Given the description of an element on the screen output the (x, y) to click on. 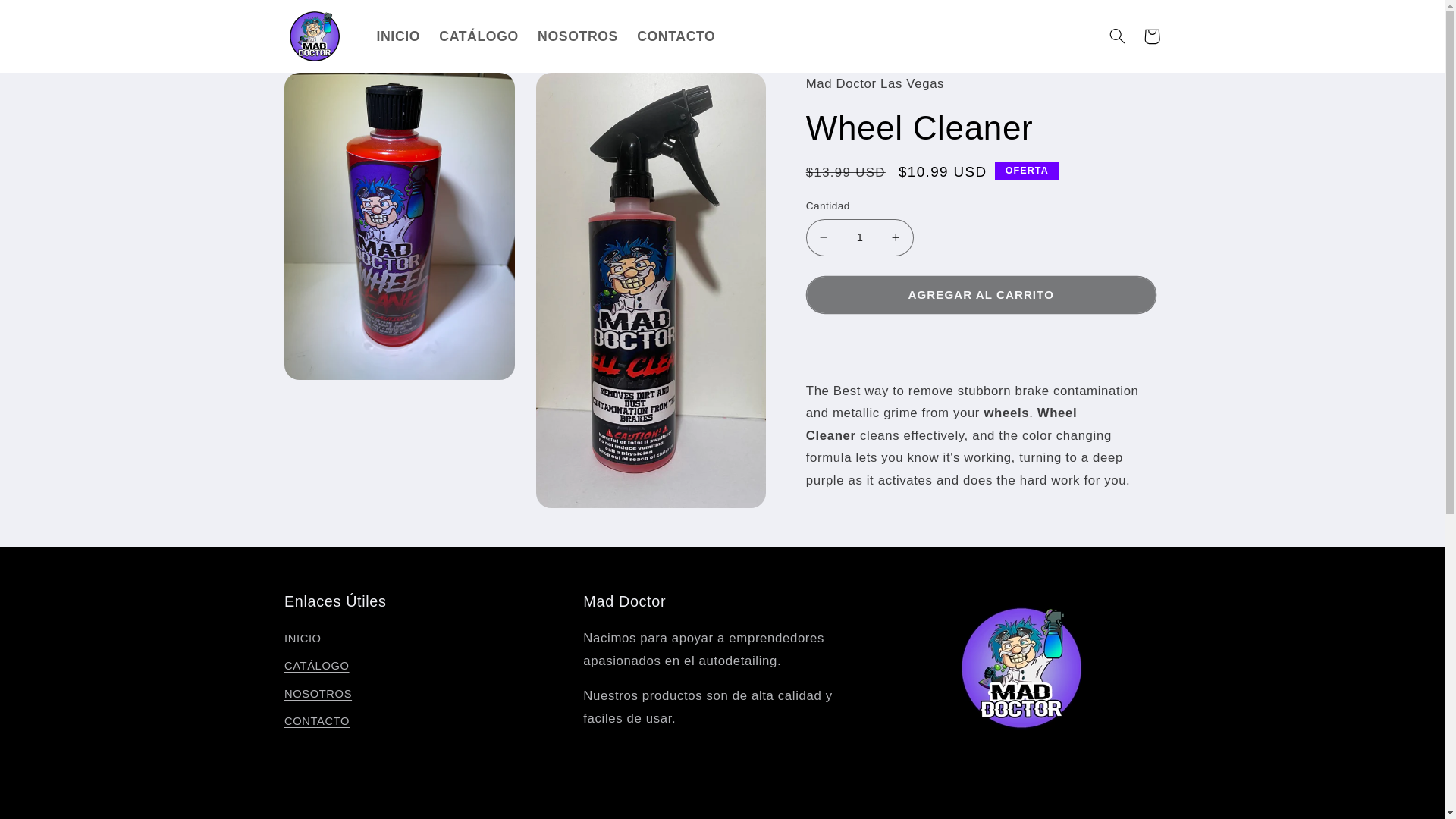
Carrito (1151, 36)
Aumentar cantidad para Wheel Cleaner (895, 237)
NOSOTROS (317, 694)
INICIO (397, 36)
CONTACTO (676, 36)
1 (860, 237)
Reducir cantidad para Wheel Cleaner (823, 237)
INICIO (302, 640)
NOSOTROS (577, 36)
AGREGAR AL CARRITO (981, 294)
